Given the description of an element on the screen output the (x, y) to click on. 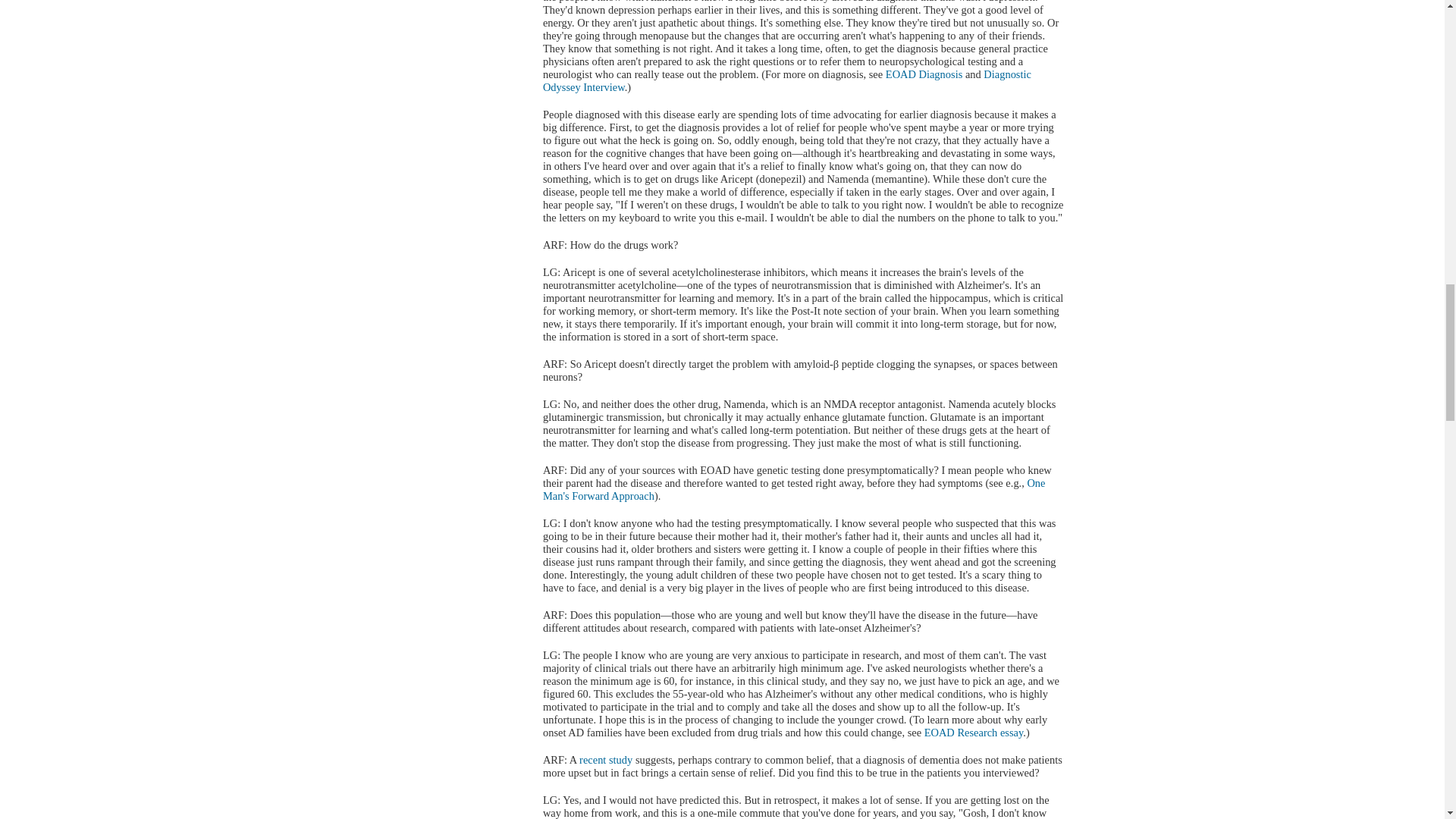
EOAD Diagnosis (923, 73)
One Man's Forward Approach (794, 489)
EOAD Research essay (973, 732)
Diagnostic Odyssey Interview (786, 80)
recent study (605, 759)
